Given the description of an element on the screen output the (x, y) to click on. 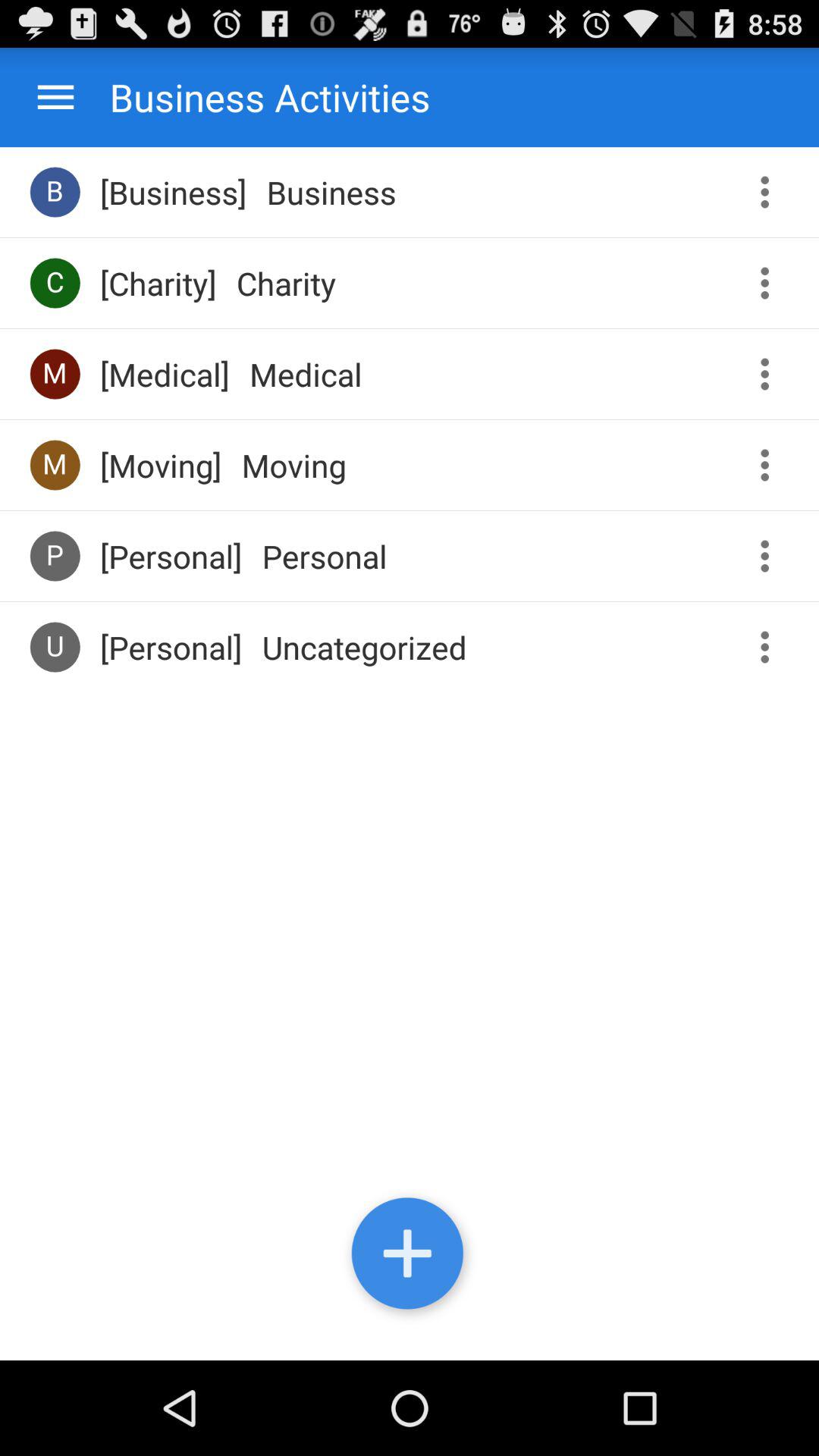
turn on icon next to [charity] app (55, 282)
